Given the description of an element on the screen output the (x, y) to click on. 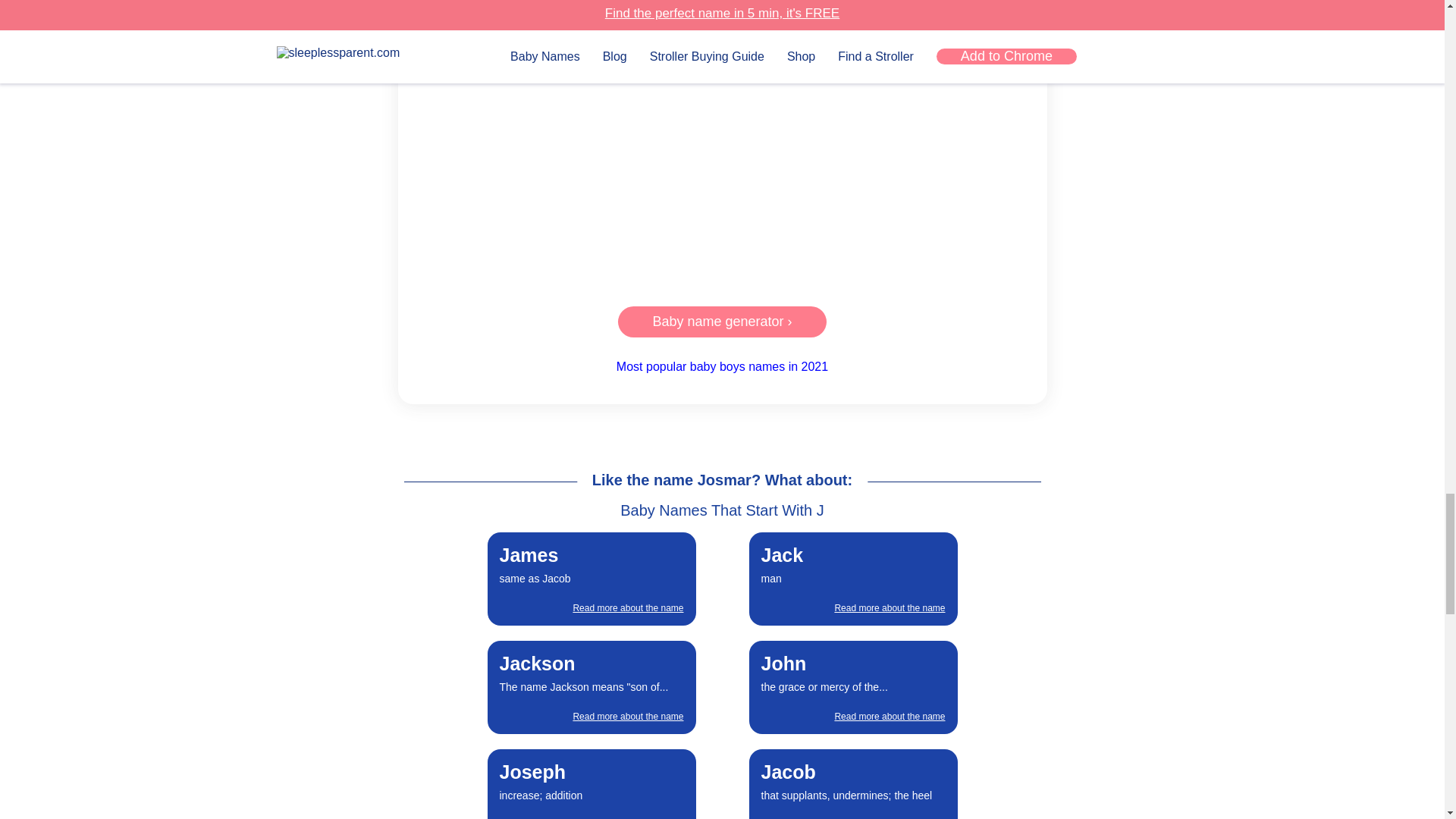
YouTube video player (591, 780)
Most popular baby boys names in 2021 (721, 156)
